Given the description of an element on the screen output the (x, y) to click on. 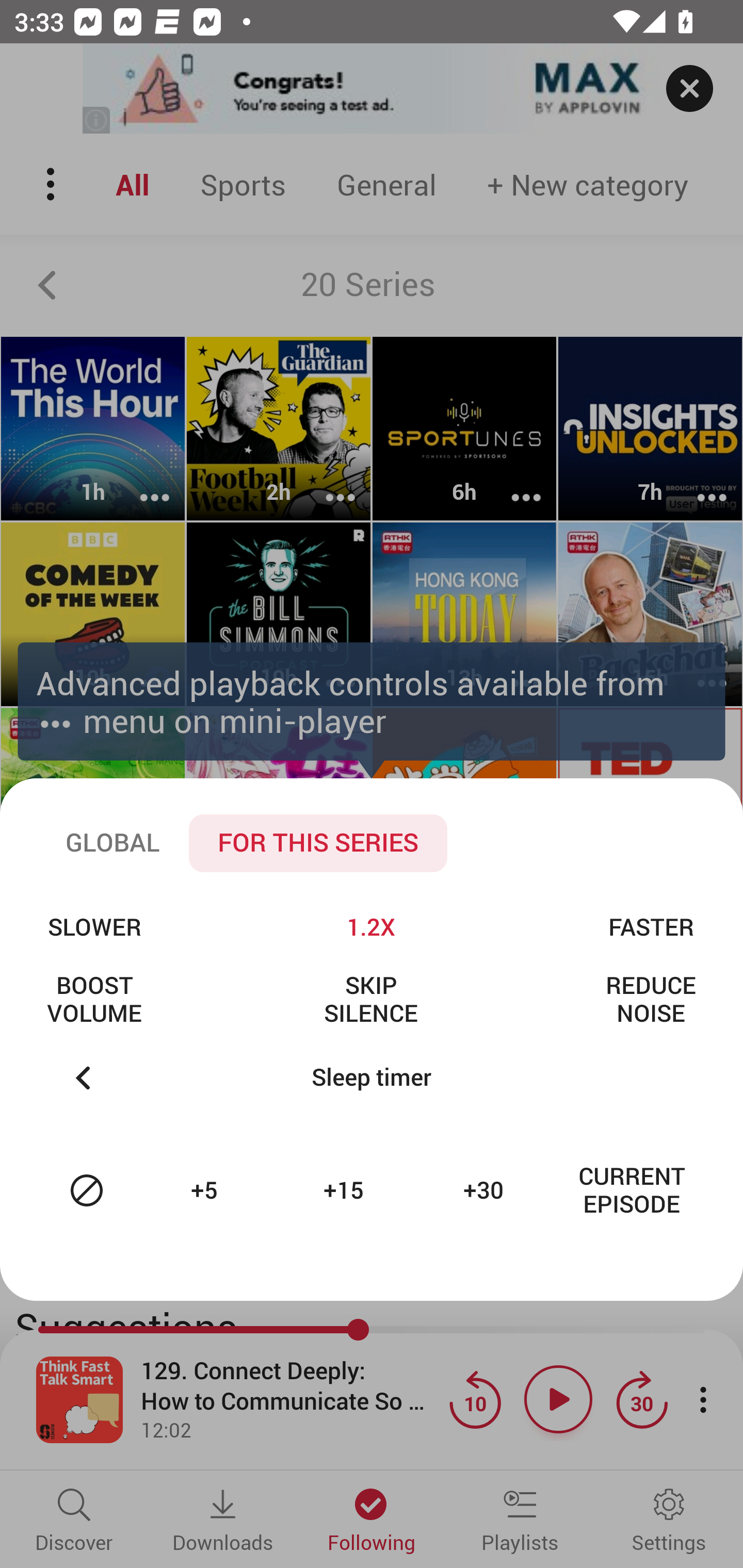
GLOBAL (112, 842)
FOR THIS SERIES (317, 842)
SLOWER (94, 926)
1.2X (370, 926)
FASTER (650, 926)
BOOST
VOLUME (94, 998)
SKIP
SILENCE (370, 998)
REDUCE
NOISE (650, 998)
Reset (86, 1190)
+5  (206, 1190)
+15  (346, 1190)
+30  (486, 1190)
CURRENT
EPISODE (631, 1190)
